Given the description of an element on the screen output the (x, y) to click on. 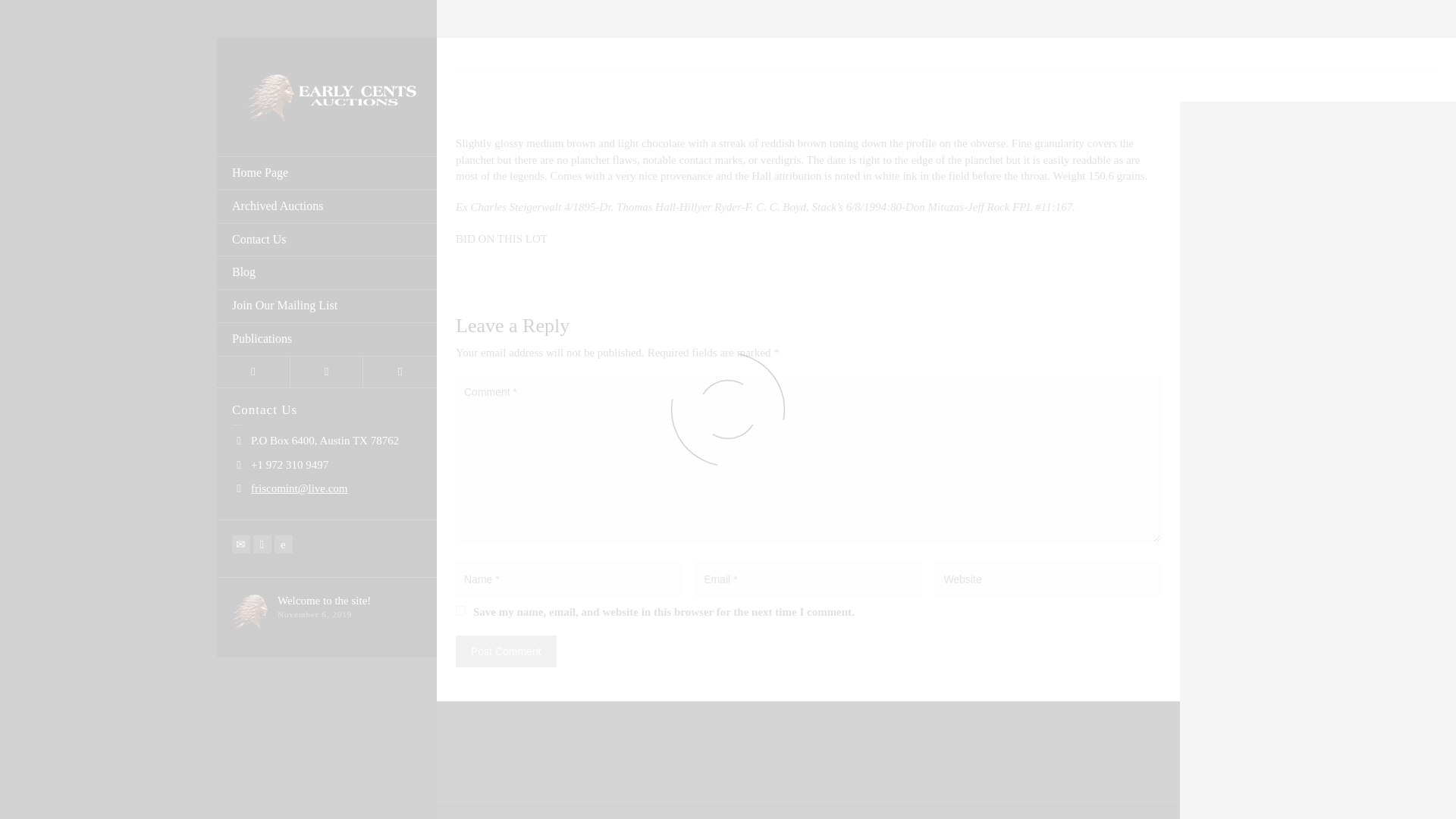
Welcome to the site! (324, 600)
Facebook (261, 544)
yes (460, 610)
Publications (326, 339)
Early Cents Auctions (326, 95)
Archived Auctions (326, 206)
Join Our Mailing List (326, 305)
Search (399, 371)
Cart (326, 371)
Post Comment (505, 651)
Post Comment (505, 651)
Contact Us (326, 240)
Welcome to the site! (324, 600)
Home Page (326, 173)
Login (252, 371)
